Given the description of an element on the screen output the (x, y) to click on. 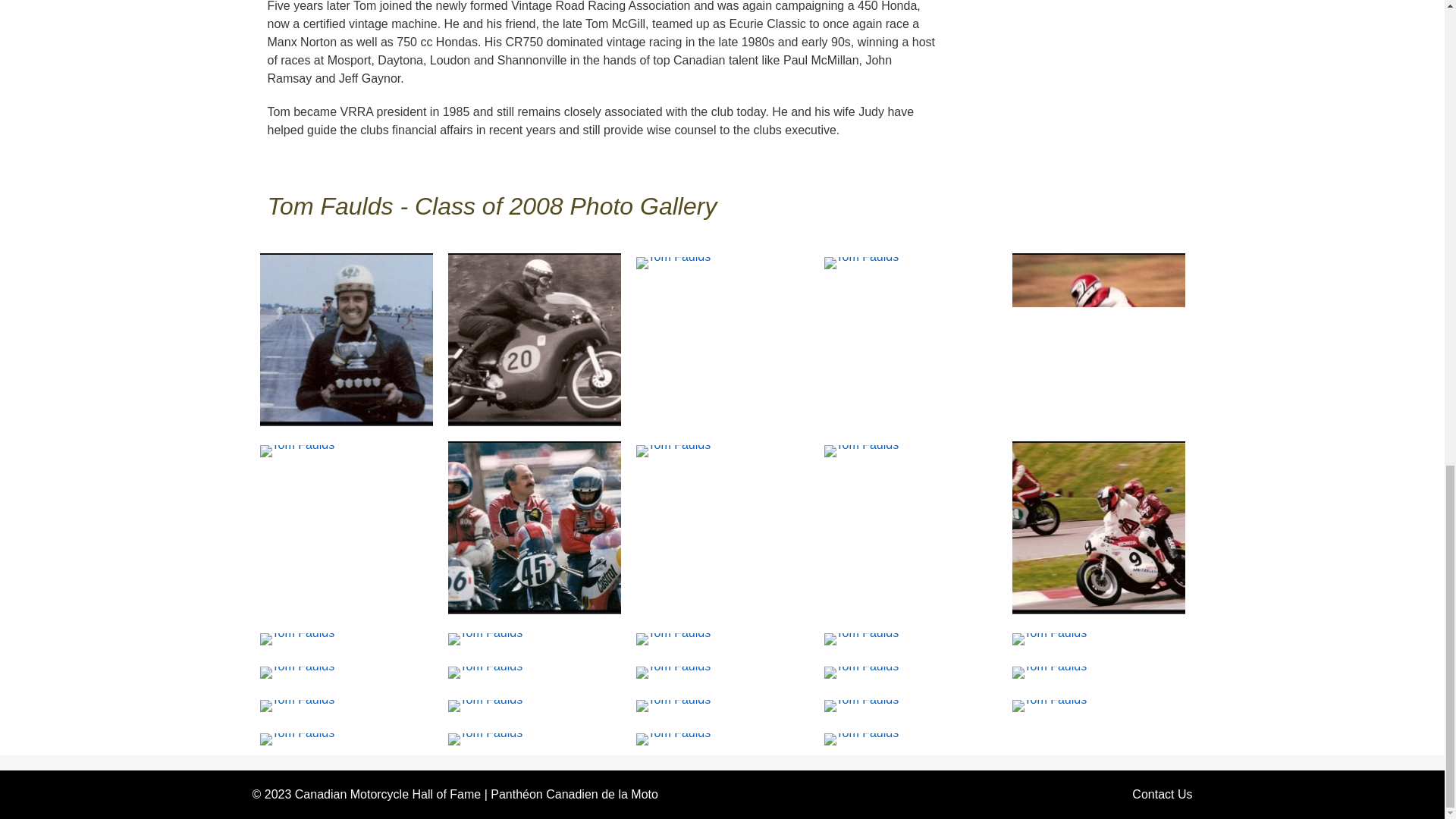
Tom Faulds (861, 637)
Tom Faulds (296, 671)
Tom Faulds (484, 637)
Tom Faulds (861, 449)
Tom Faulds (484, 671)
Tom Faulds (345, 338)
Tom Faulds (296, 637)
Tom Faulds (296, 449)
Tom Faulds (1048, 637)
Tom Faulds (1098, 526)
Tom Faulds (672, 637)
Tom Faulds (672, 261)
Tom Faulds (861, 261)
Tom Faulds (1098, 338)
Tom Faulds (672, 671)
